Given the description of an element on the screen output the (x, y) to click on. 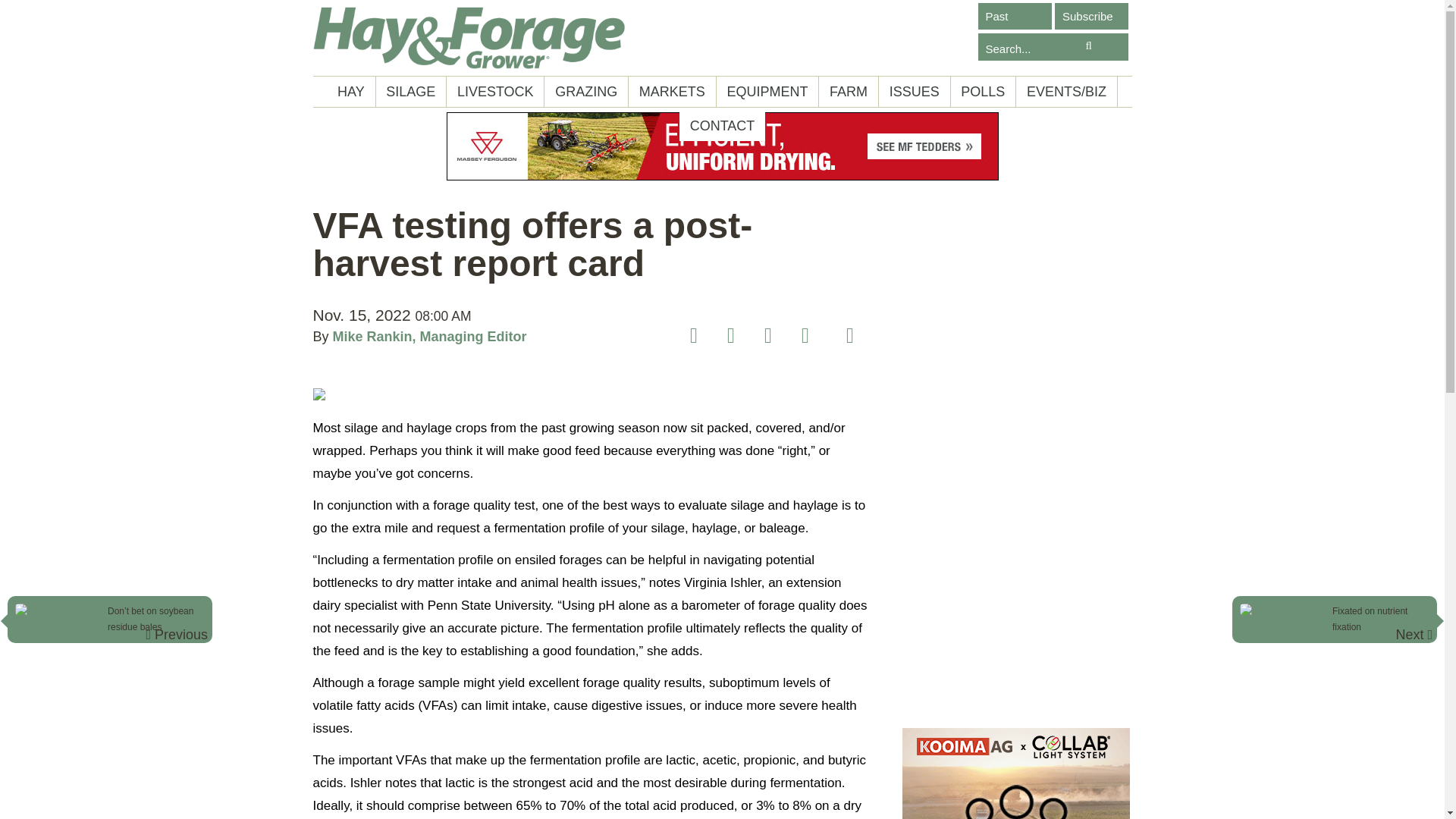
GRAZING (586, 91)
HAY (350, 91)
SILAGE (411, 91)
MARKETS (672, 91)
Past Issues (1014, 16)
ISSUES (914, 91)
FARM (848, 91)
Hay and Forage Grower Magazine (469, 38)
EQUIPMENT (766, 91)
LIVESTOCK (494, 91)
Subscribe (1091, 16)
